Given the description of an element on the screen output the (x, y) to click on. 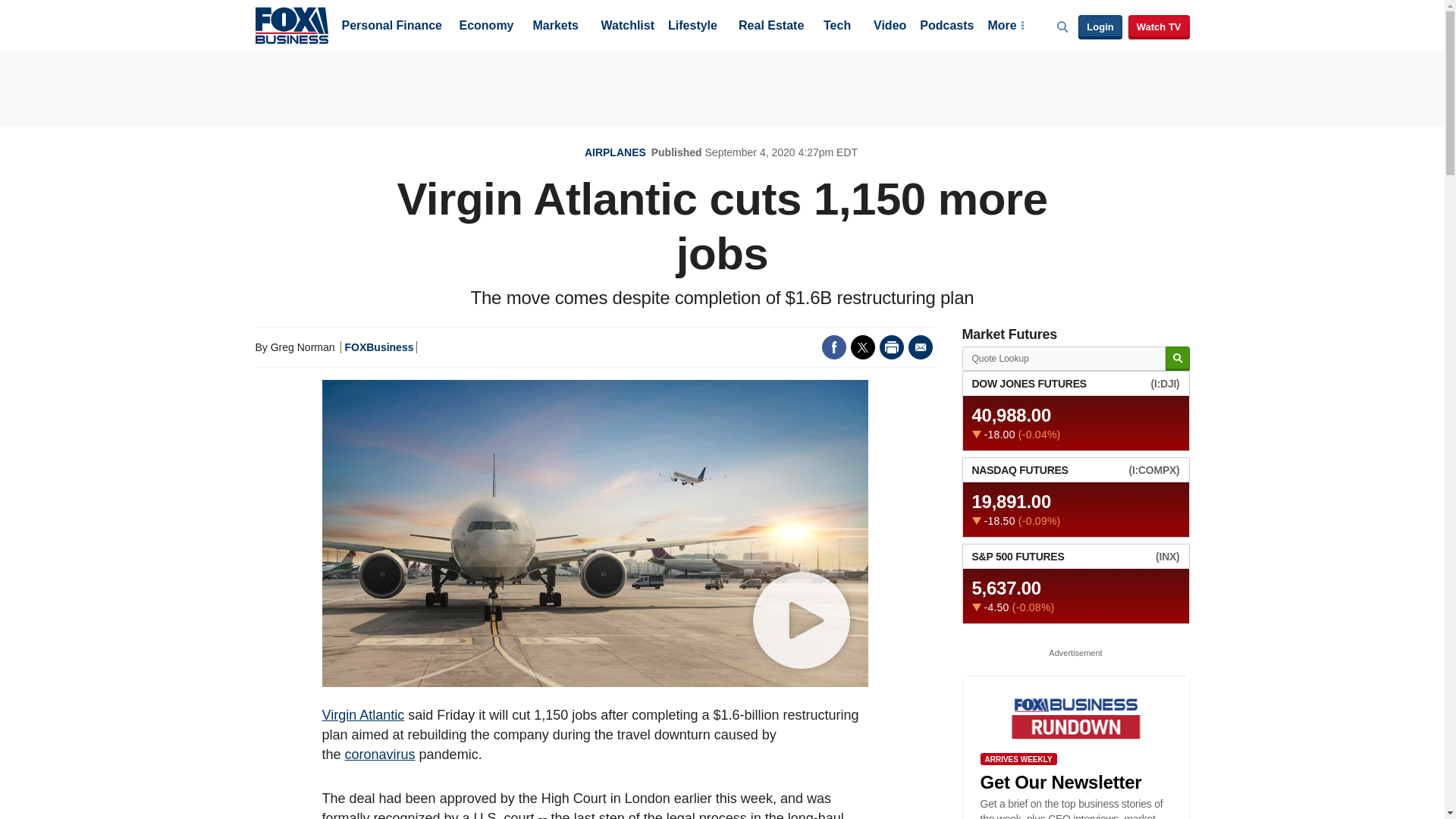
Lifestyle (692, 27)
Watch TV (1158, 27)
Search (1176, 358)
Search (1176, 358)
Personal Finance (391, 27)
Economy (486, 27)
Video (889, 27)
More (1005, 27)
Fox Business (290, 24)
Podcasts (947, 27)
